Given the description of an element on the screen output the (x, y) to click on. 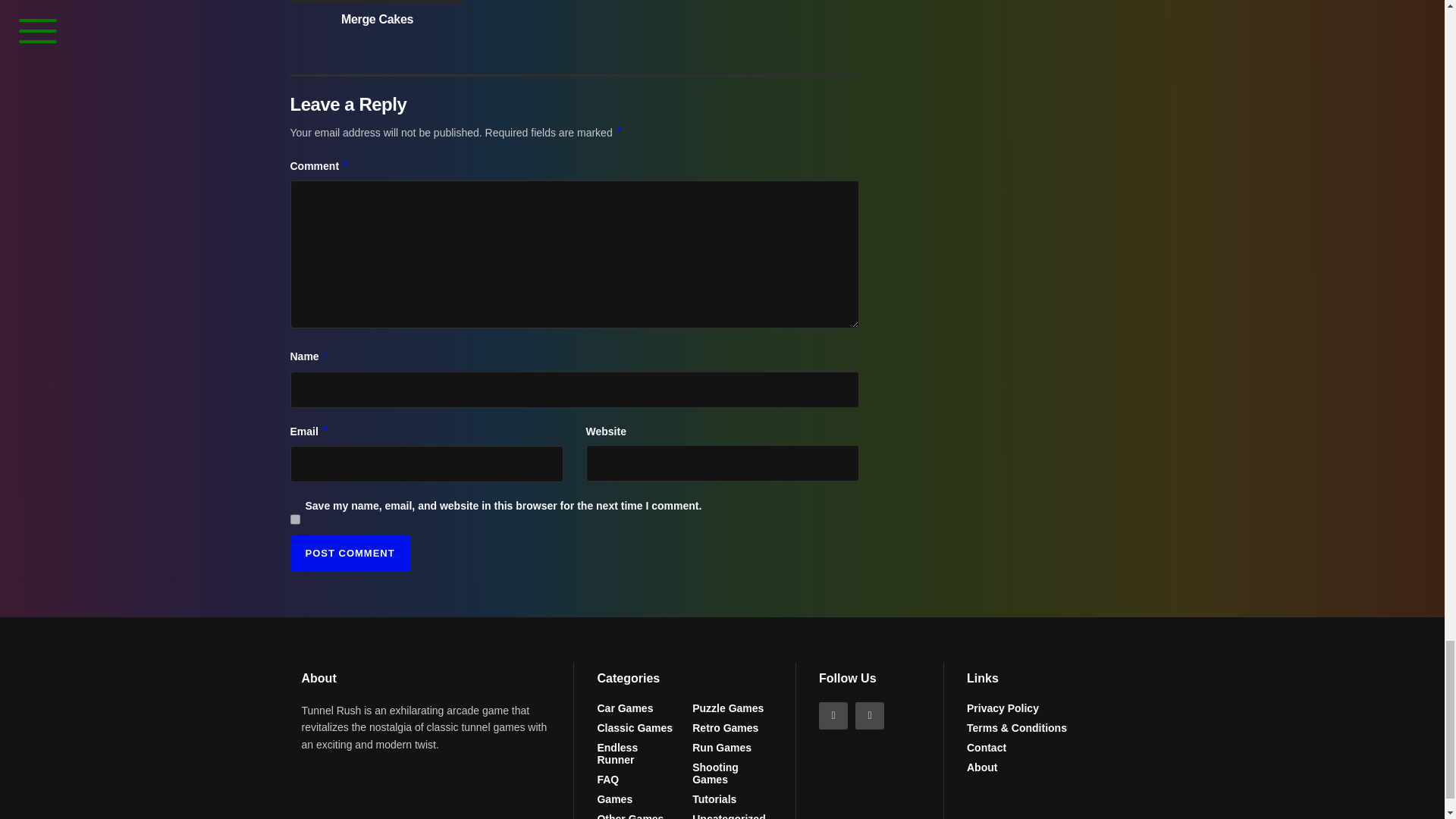
Post Comment (349, 553)
